Given the description of an element on the screen output the (x, y) to click on. 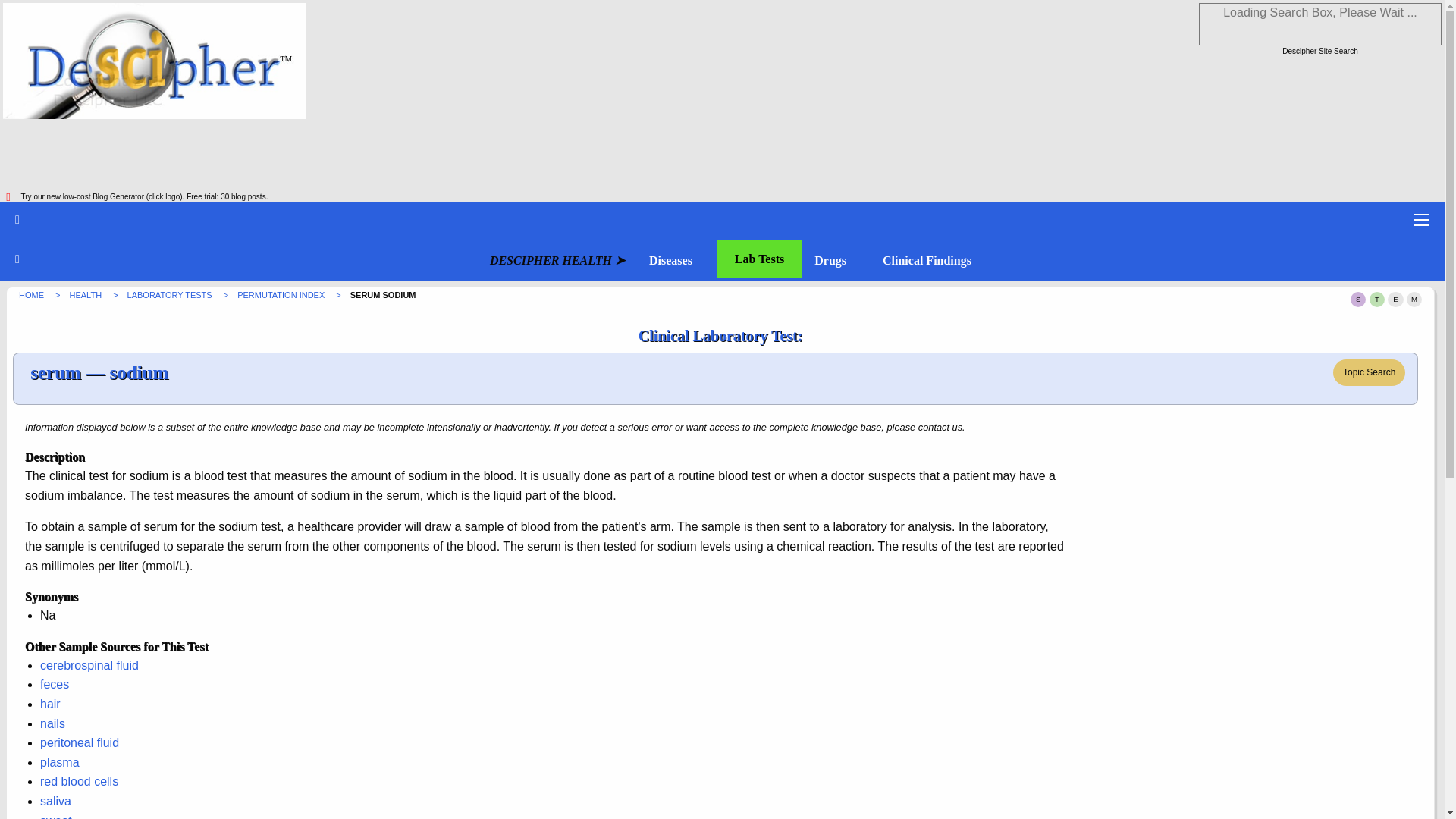
hair (50, 703)
Topic Search (1369, 371)
Drugs (830, 260)
Clinical Findings (927, 260)
PERMUTATION INDEX (281, 294)
sweat (55, 816)
HOME (32, 294)
LABORATORY TESTS (171, 294)
red blood cells (78, 780)
cerebrospinal fluid (89, 665)
